Given the description of an element on the screen output the (x, y) to click on. 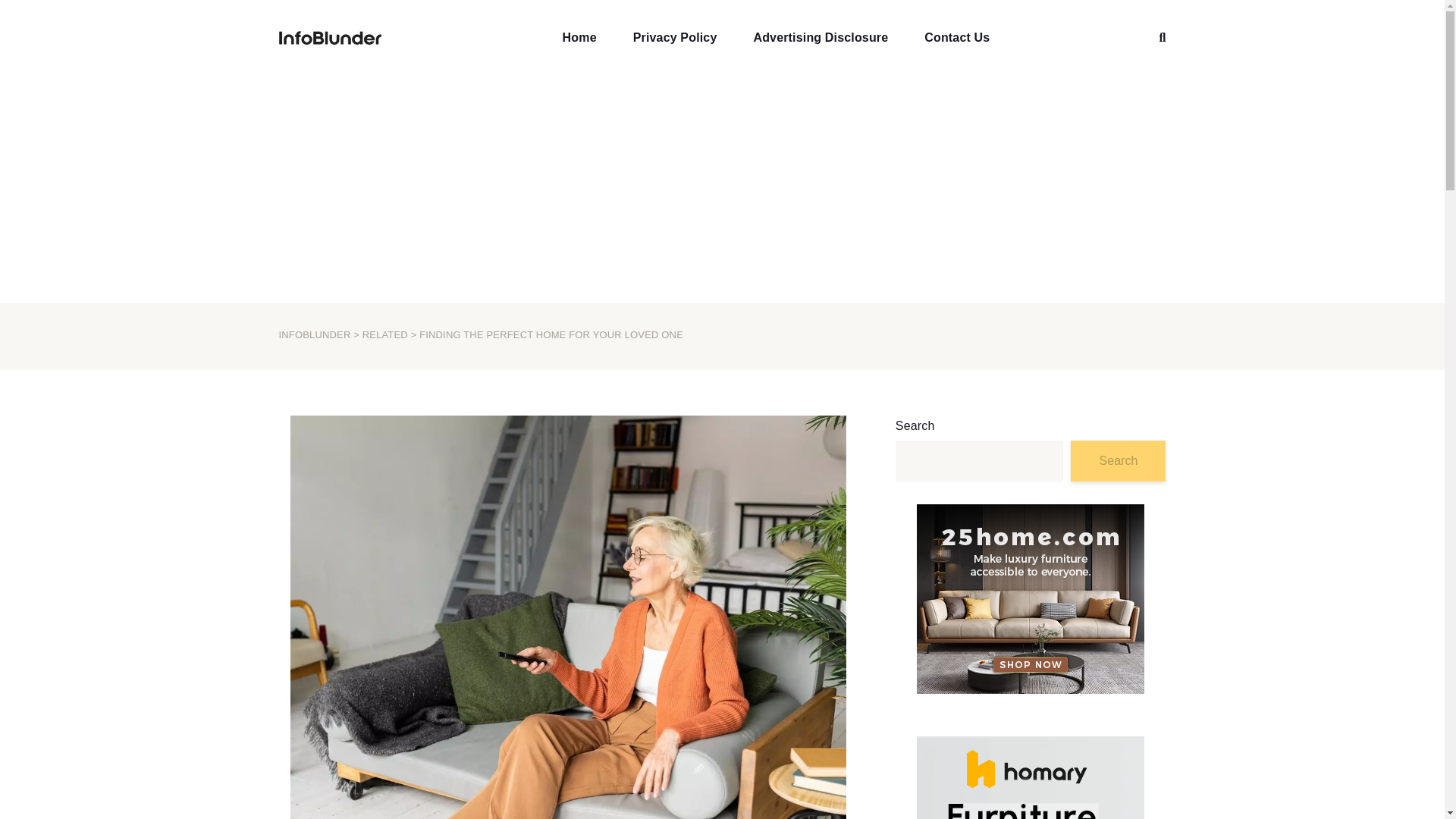
Advertising Disclosure (819, 37)
Advertising Disclosure (819, 37)
RELATED (384, 334)
Privacy Policy (675, 37)
Contact Us (956, 37)
Privacy Policy (675, 37)
INFOBLUNDER (314, 334)
Search (1118, 460)
Contact Us (956, 37)
